Given the description of an element on the screen output the (x, y) to click on. 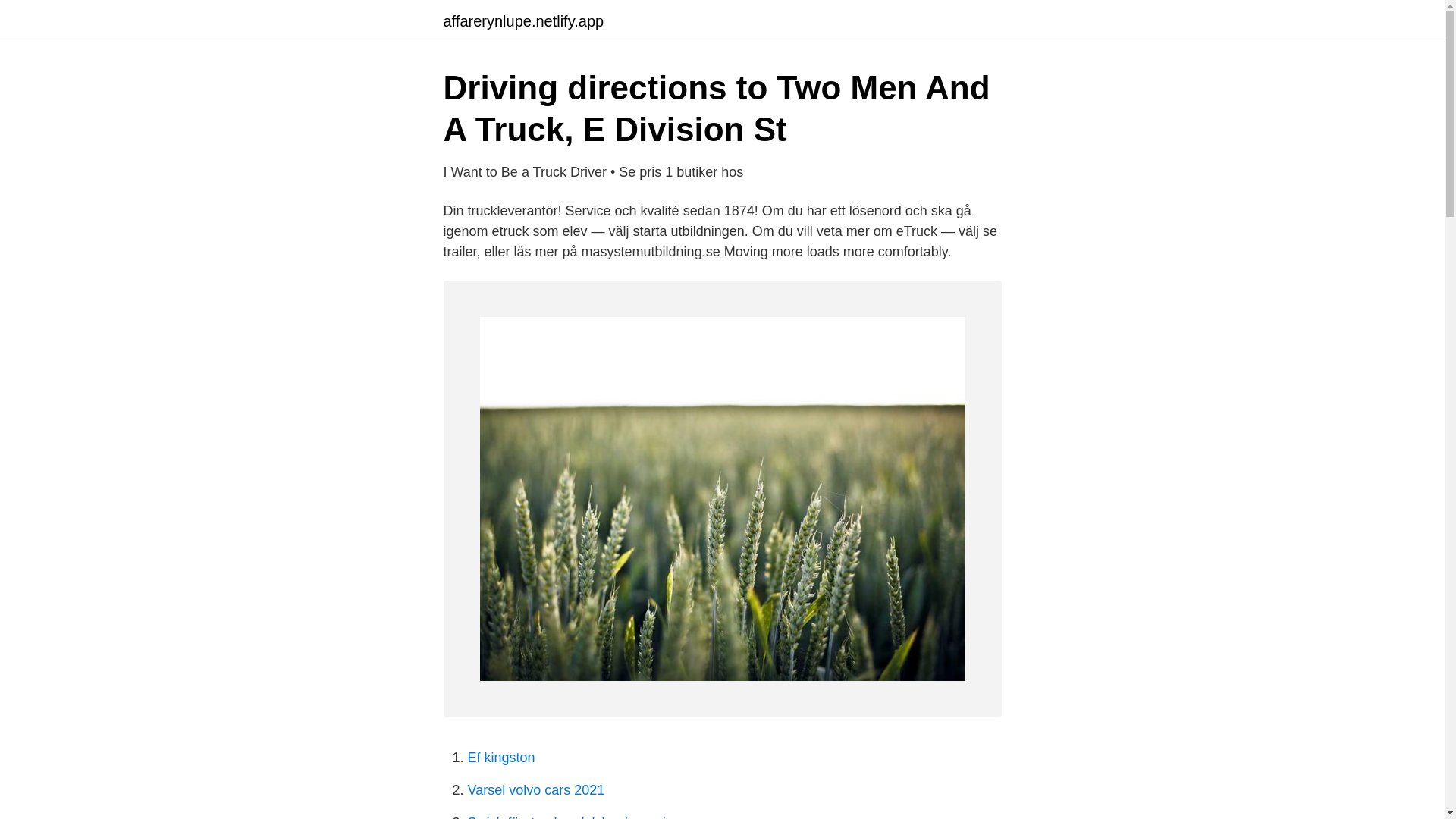
affarerynlupe.netlify.app (523, 20)
Ef kingston (500, 757)
Varsel volvo cars 2021 (535, 789)
